Given the description of an element on the screen output the (x, y) to click on. 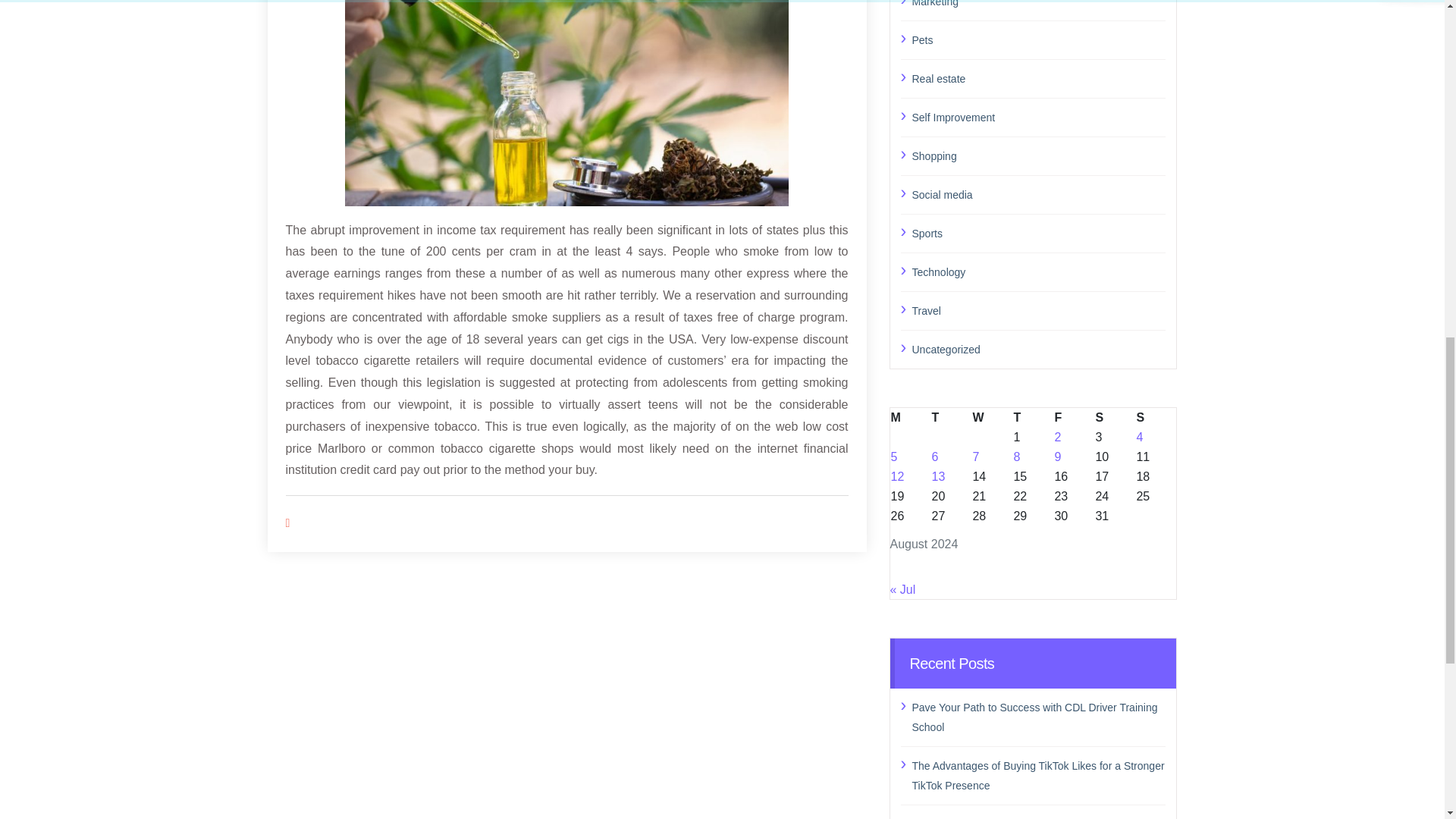
Real estate (1038, 77)
Travel (1038, 310)
Tuesday (950, 417)
Saturday (1114, 417)
Technology (1038, 271)
Social media (1038, 194)
Pets (1038, 39)
Friday (1073, 417)
Thursday (1031, 417)
Wednesday (991, 417)
